Given the description of an element on the screen output the (x, y) to click on. 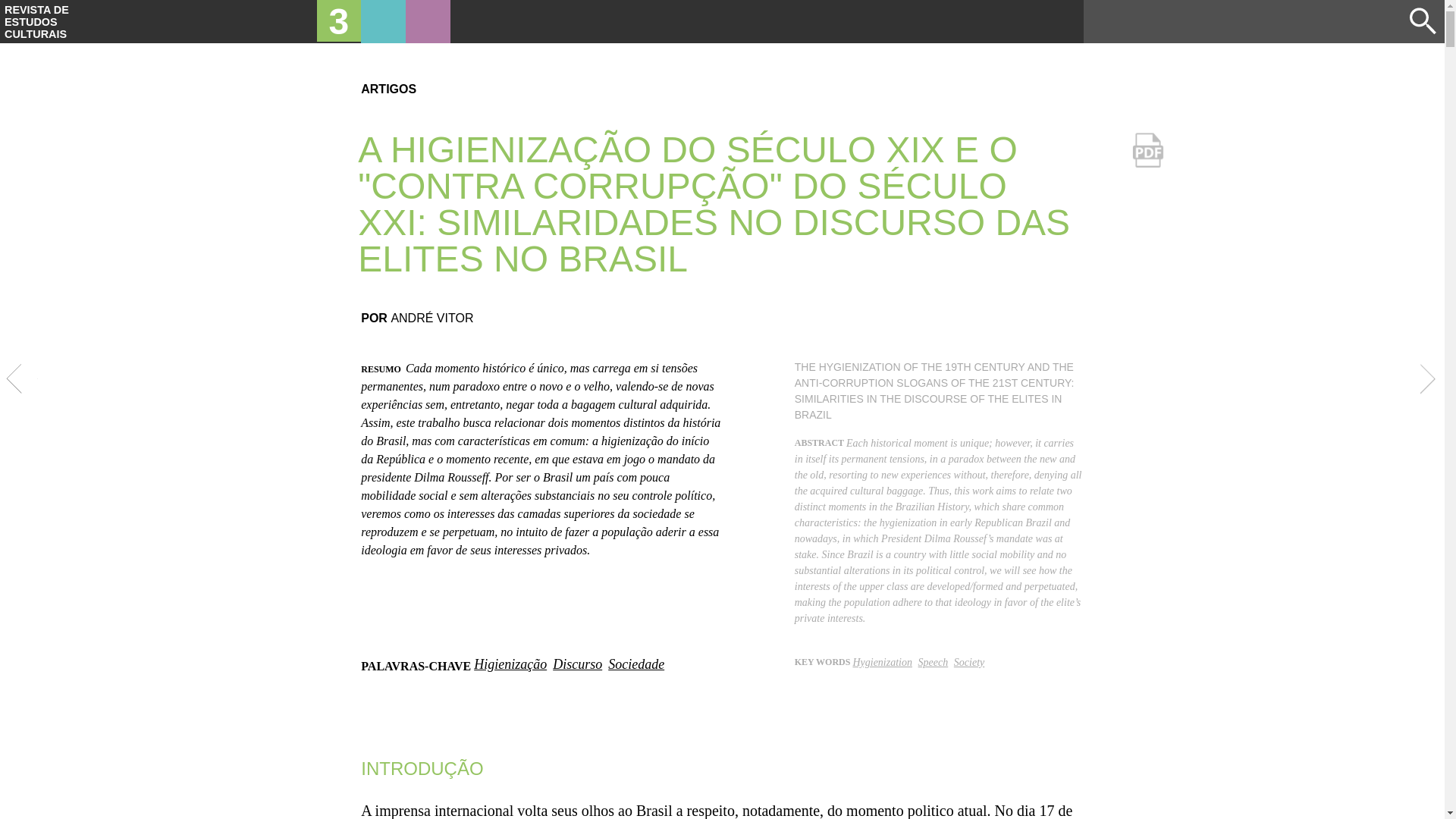
Skip to main content Element type: text (722, 2)
REVISTA DE ESTUDOS CULTURAIS Element type: text (36, 21)
Enter the terms you wish to search for. Element type: hover (1245, 21)
Sociedade Element type: text (636, 664)
Speech Element type: text (933, 662)
ed3-artigo5.pdf Element type: text (1146, 182)
Hygienization Element type: text (882, 662)
Search Element type: text (1422, 21)
Society Element type: text (968, 662)
Discurso Element type: text (577, 664)
